Given the description of an element on the screen output the (x, y) to click on. 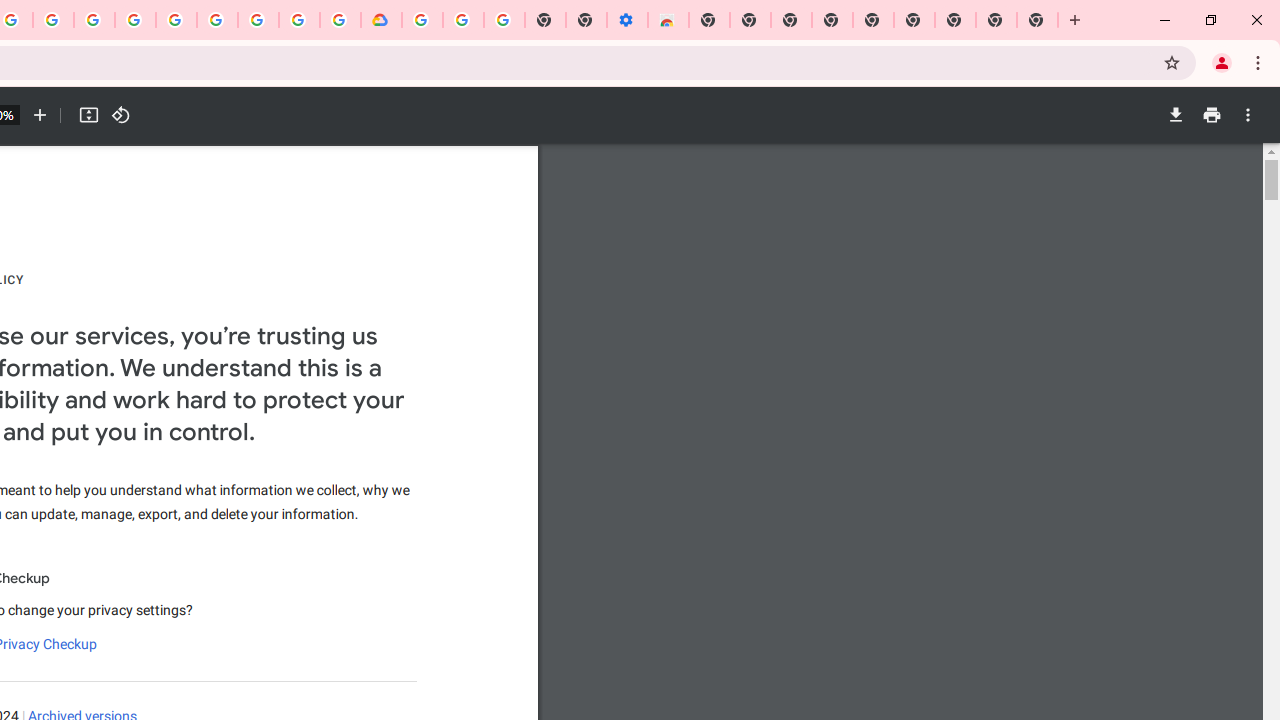
Sign in - Google Accounts (176, 20)
Ad Settings (135, 20)
Settings - Accessibility (626, 20)
Create your Google Account (299, 20)
Turn cookies on or off - Computer - Google Account Help (503, 20)
Rotate counterclockwise (119, 115)
New Tab (1037, 20)
Zoom in (39, 115)
New Tab (708, 20)
Fit to page (87, 115)
